Given the description of an element on the screen output the (x, y) to click on. 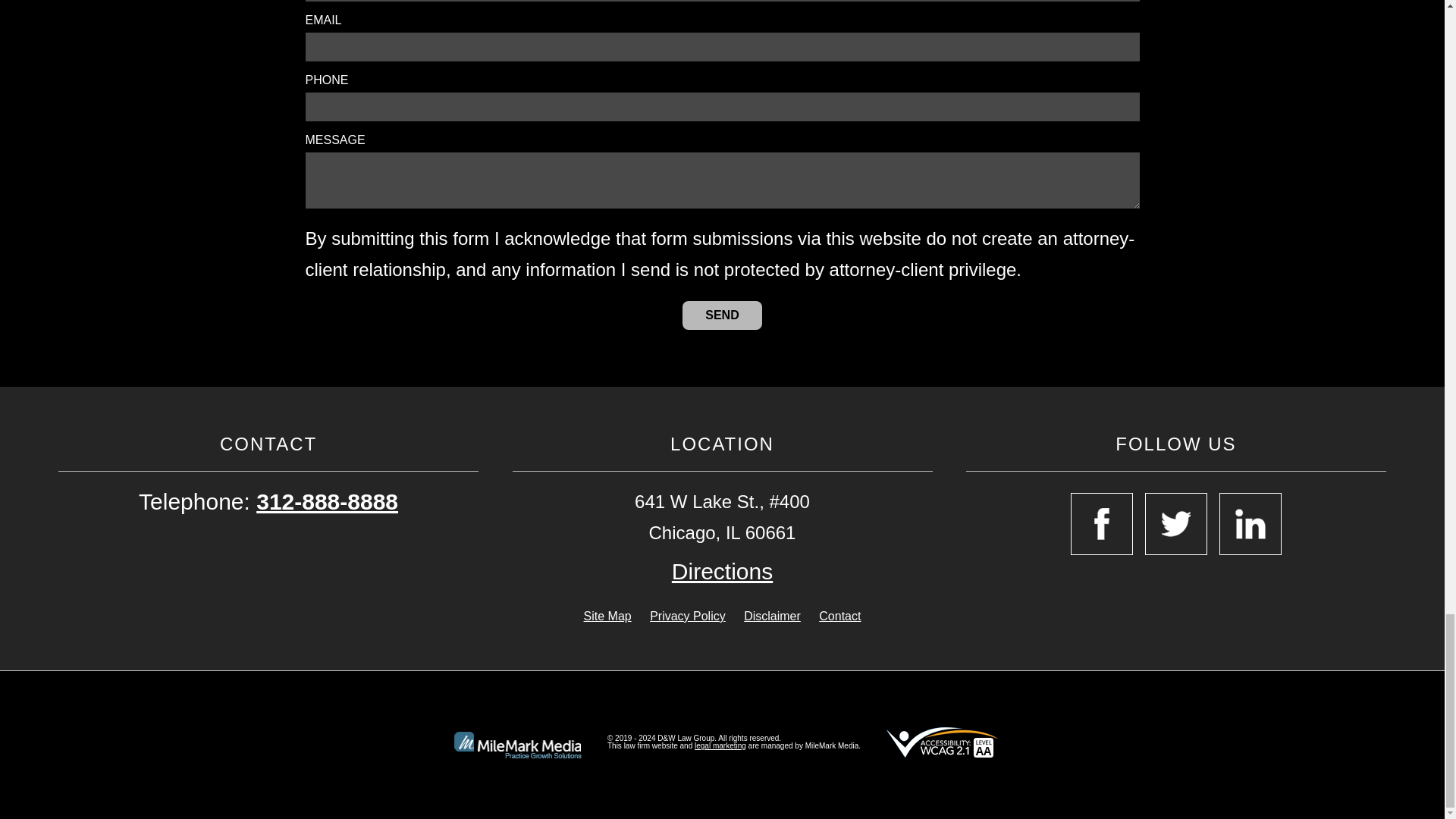
Open Google Map in a New Window (722, 571)
Open Twitter in a New Window (1175, 524)
Send (721, 315)
Open MileMarkMedia.com in a New Window (719, 746)
Open Facebook in a New Window (1101, 524)
312-888-8888 (326, 501)
Open Linkedin in a New Window (1250, 524)
Send (721, 315)
